Given the description of an element on the screen output the (x, y) to click on. 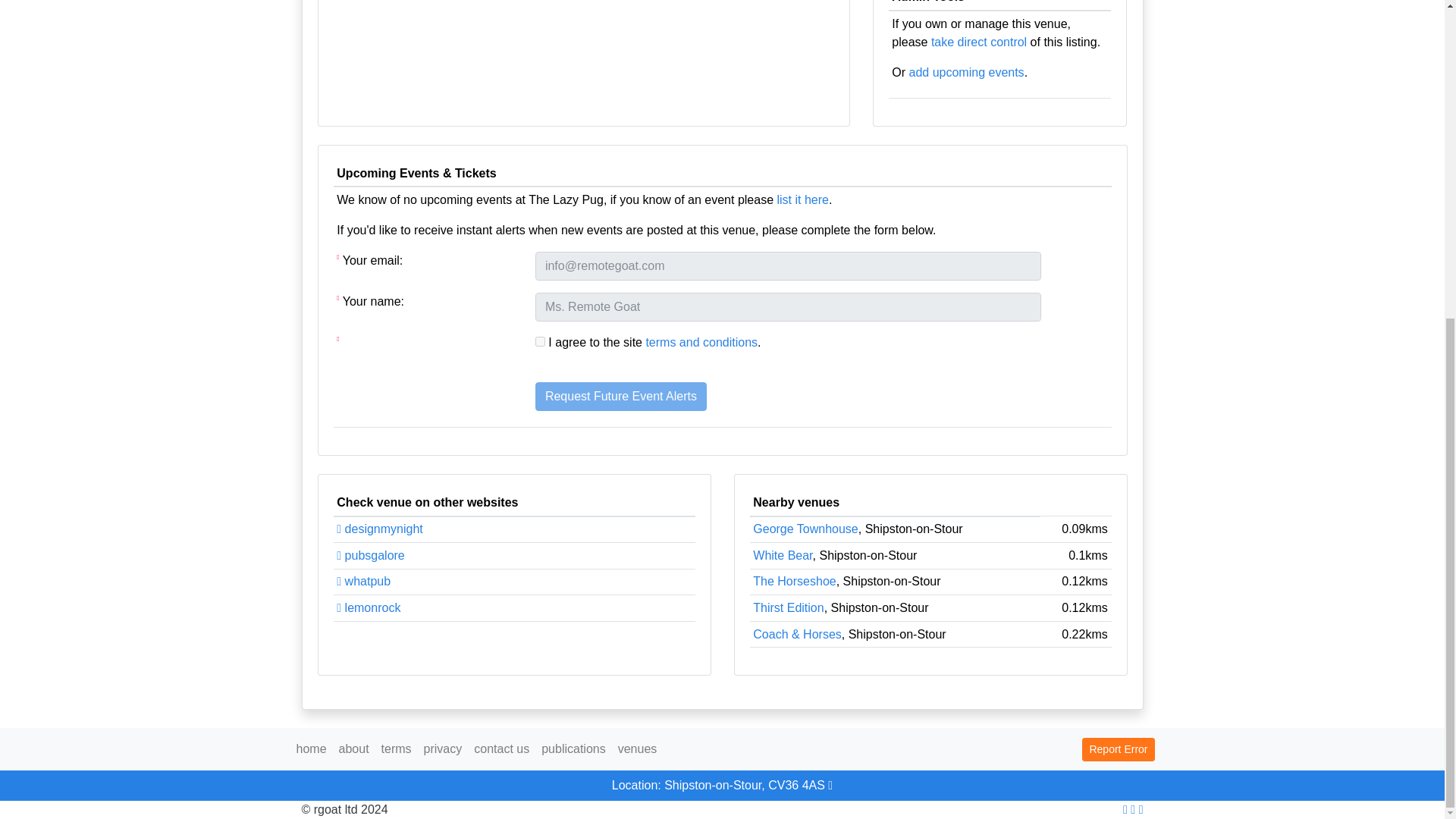
home (310, 748)
list it here (802, 199)
Thirst Edition (788, 607)
White Bear (782, 554)
contact us (501, 748)
terms (396, 748)
designmynight (379, 528)
list new event (966, 72)
lemonrock (368, 607)
Request Future Event Alerts (620, 396)
